Given the description of an element on the screen output the (x, y) to click on. 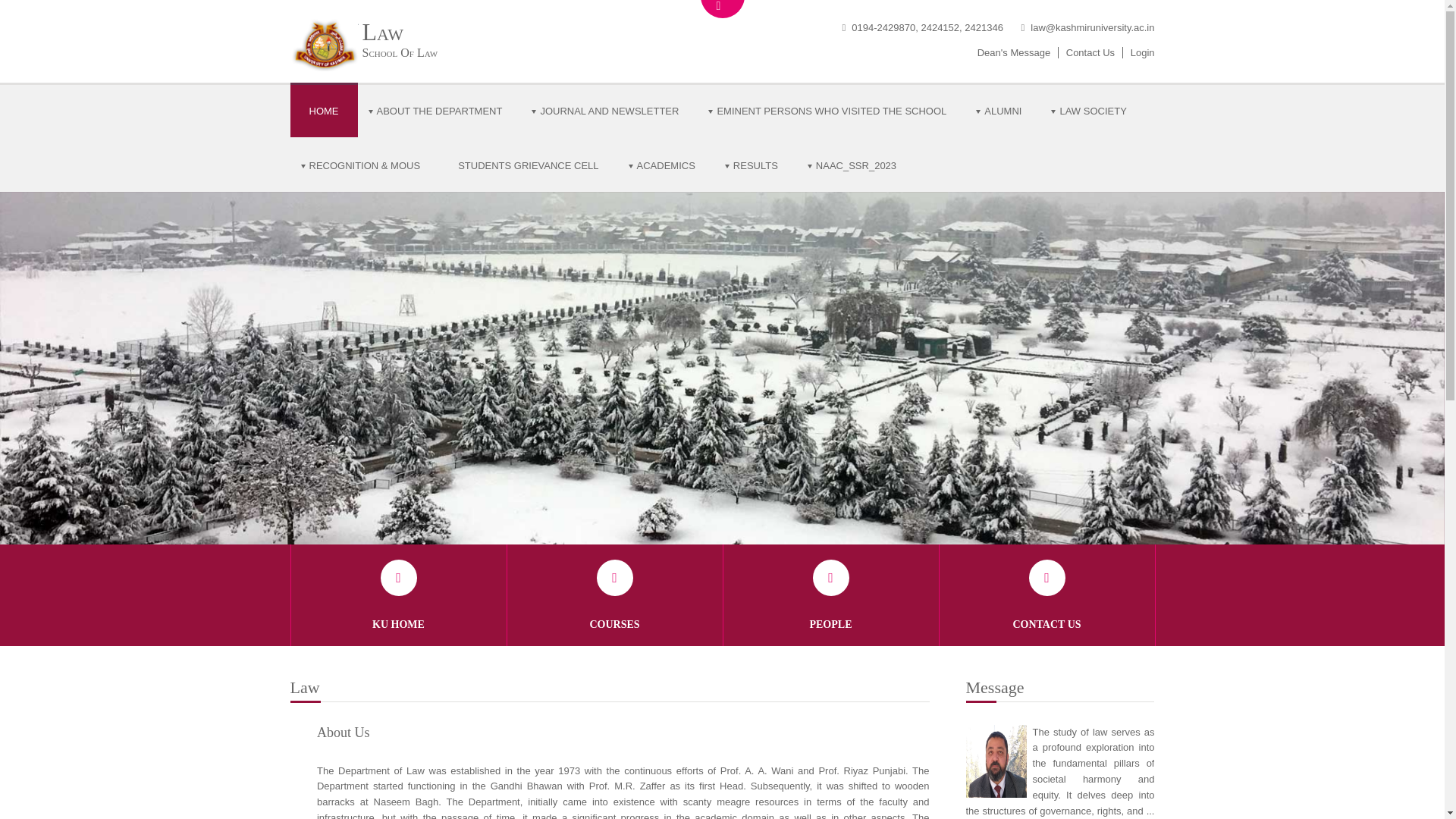
Contact Us (1090, 52)
ALUMNI (1003, 109)
Login (1142, 52)
HOME (322, 109)
ABOUT THE DEPARTMENT (439, 109)
About the Department (439, 109)
ALUMNI (1003, 109)
LAW SOCIETY (1092, 109)
Eminent Persons who visited the School (831, 109)
Journal and Newsletter (609, 109)
Home (322, 109)
EMINENT PERSONS WHO VISITED THE SCHOOL (831, 109)
Dean's Message (1012, 52)
Law Society (1092, 109)
JOURNAL AND NEWSLETTER (609, 109)
